Given the description of an element on the screen output the (x, y) to click on. 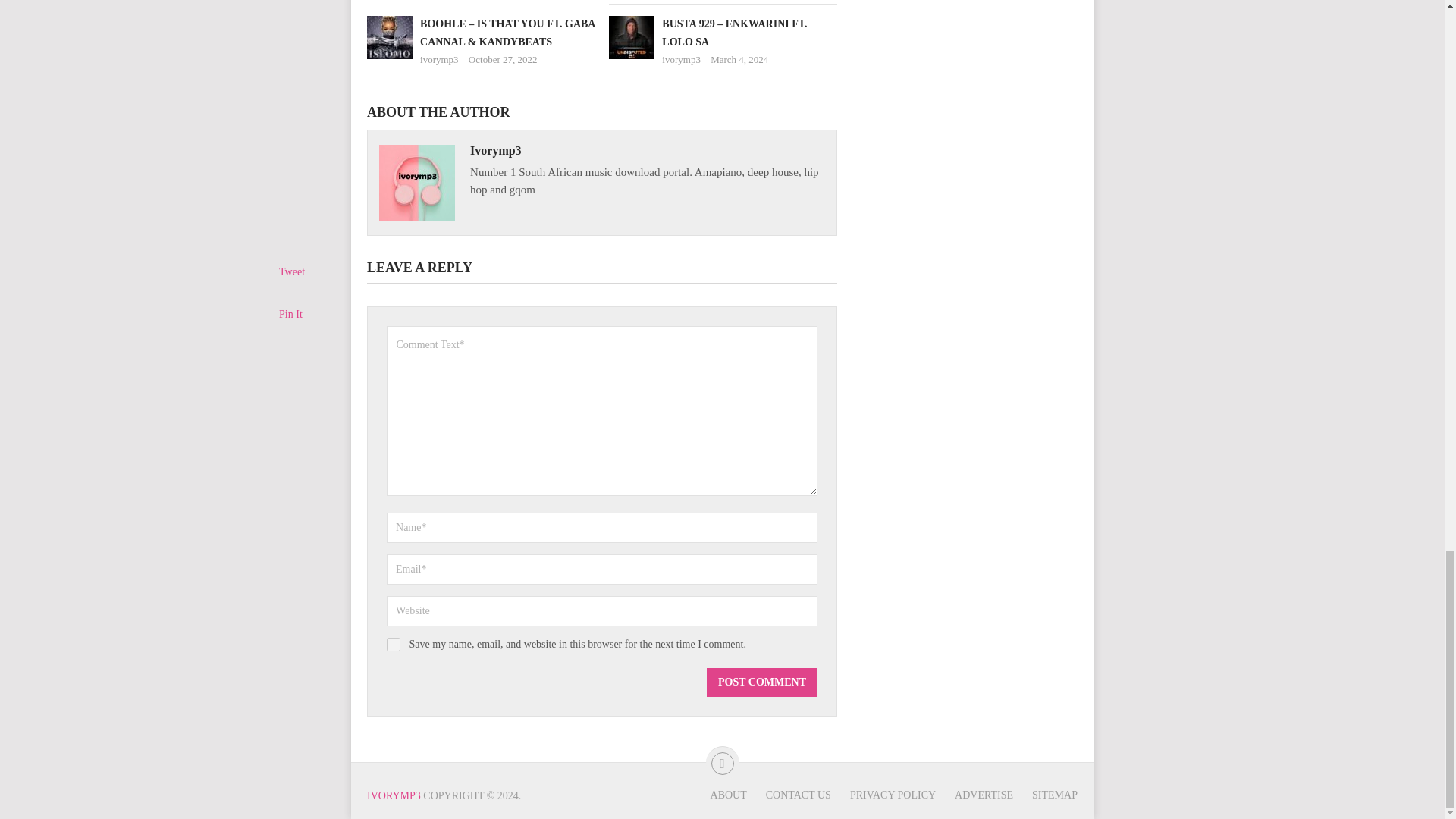
Post Comment (761, 682)
yes (393, 644)
